Given the description of an element on the screen output the (x, y) to click on. 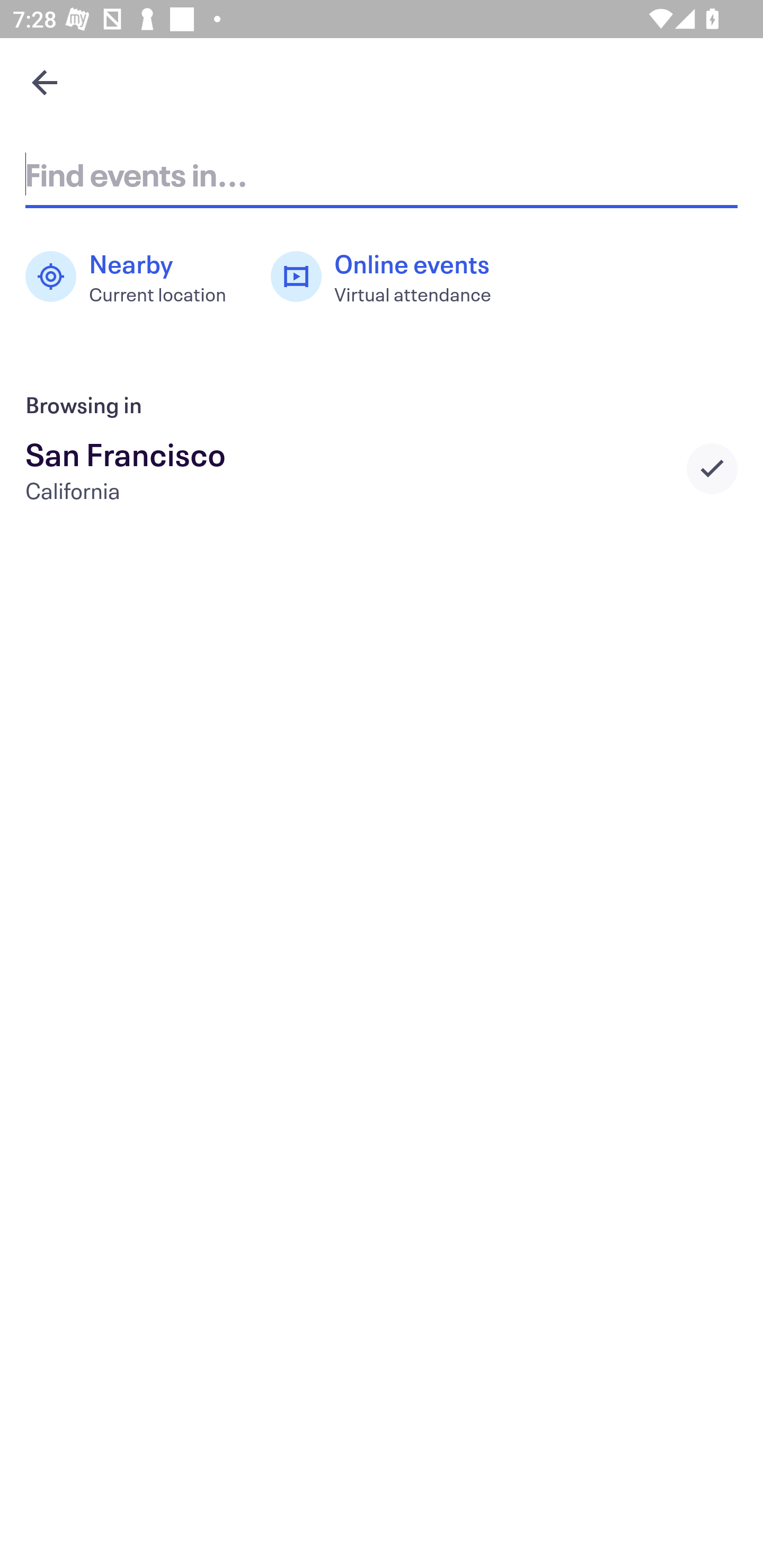
Navigate up (44, 82)
Find events in... (381, 173)
Nearby Current location (135, 276)
Online events Virtual attendance (390, 276)
San Francisco California Selected city (381, 468)
